Given the description of an element on the screen output the (x, y) to click on. 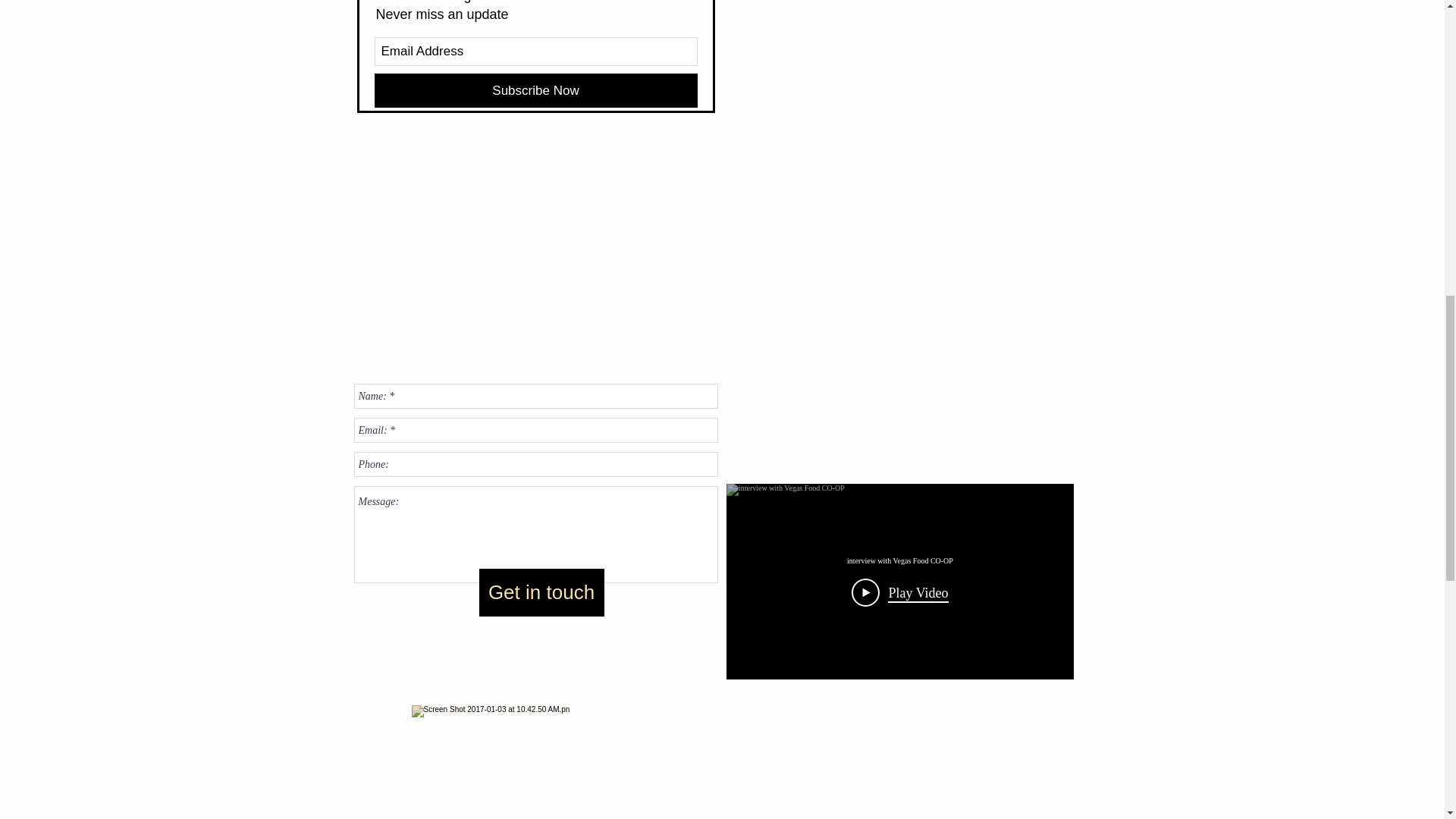
Get in touch (541, 592)
Subscribe Now (535, 90)
interview with Vegas Food CO-OP (899, 560)
